Given the description of an element on the screen output the (x, y) to click on. 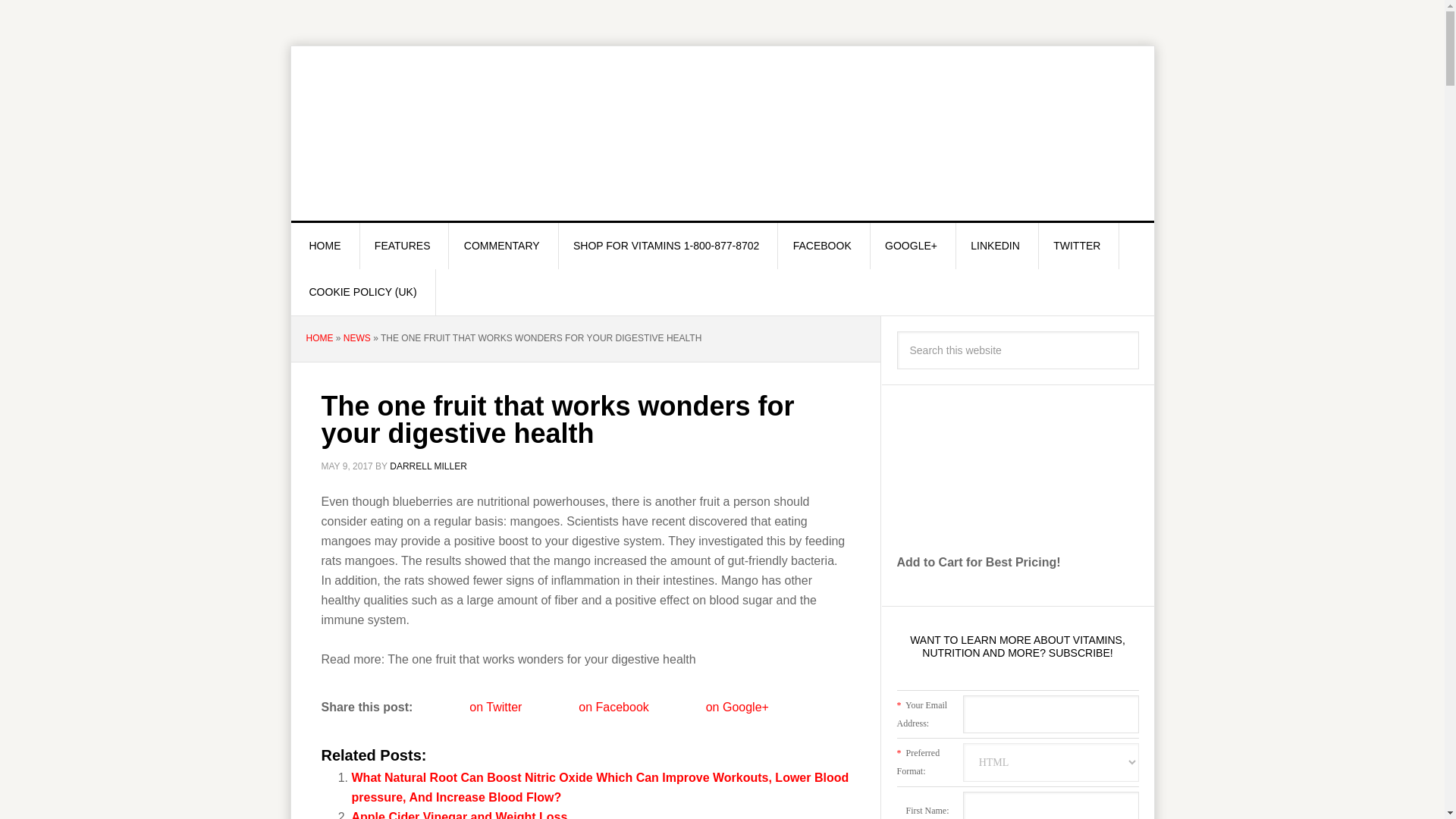
FEATURES (402, 245)
FACEBOOK (822, 245)
HOME (325, 245)
Apple Cider Vinegar and Weight Loss (459, 814)
DARRELL MILLER (428, 466)
HOME (319, 337)
LINKEDIN (995, 245)
on Twitter (473, 707)
